Given the description of an element on the screen output the (x, y) to click on. 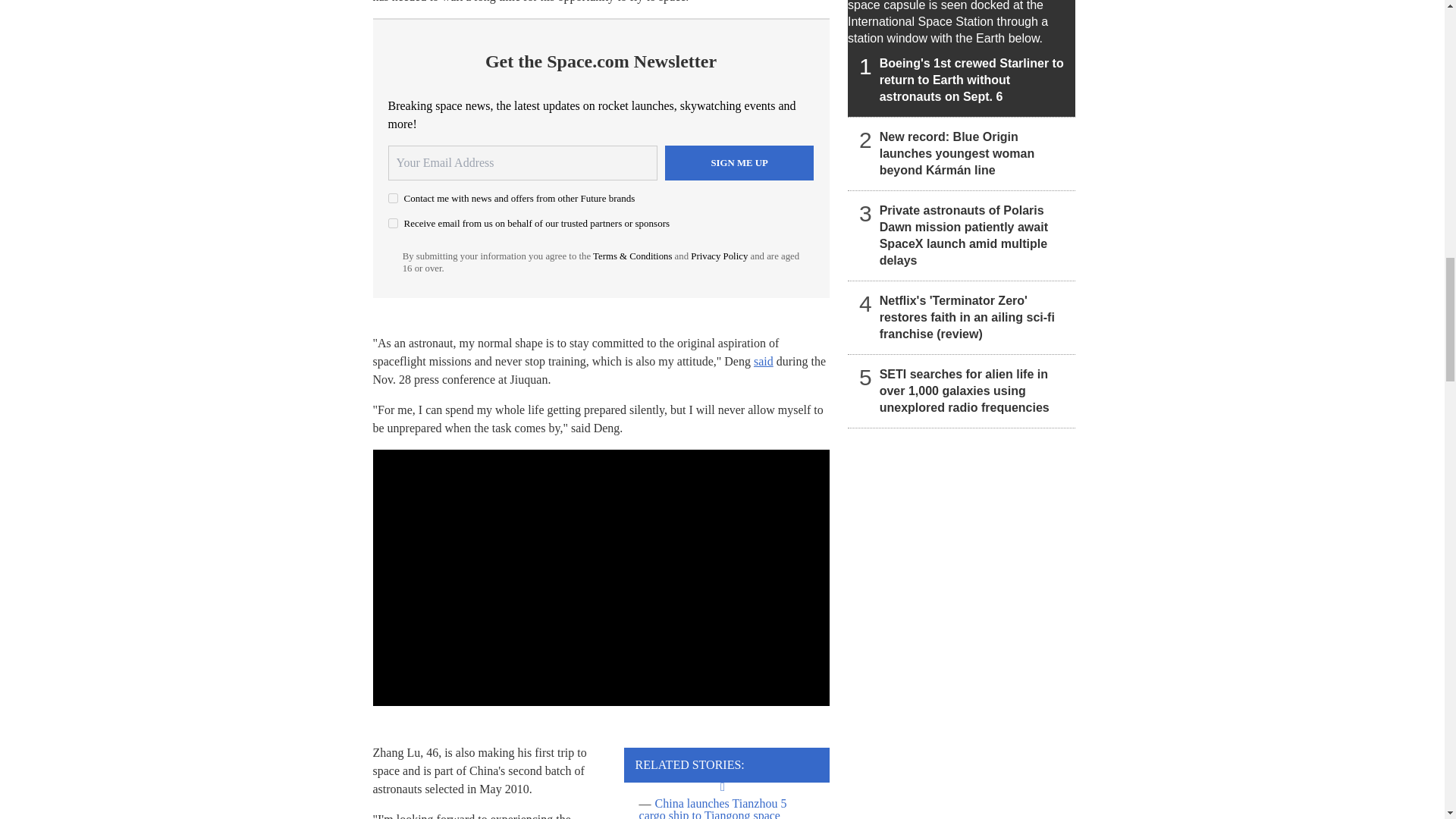
Sign me up (739, 162)
on (392, 198)
on (392, 223)
